Given the description of an element on the screen output the (x, y) to click on. 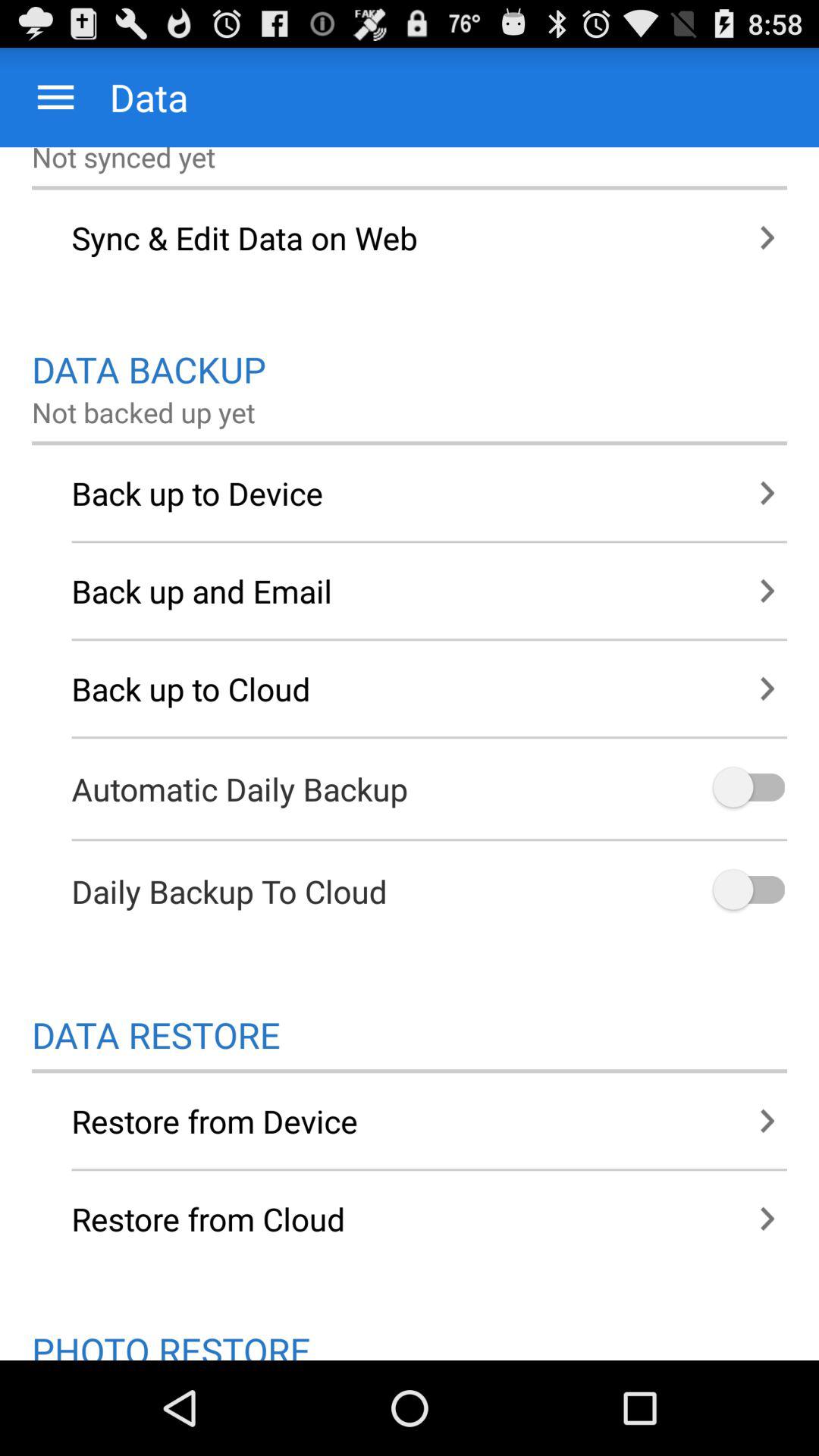
open menu (55, 97)
